Given the description of an element on the screen output the (x, y) to click on. 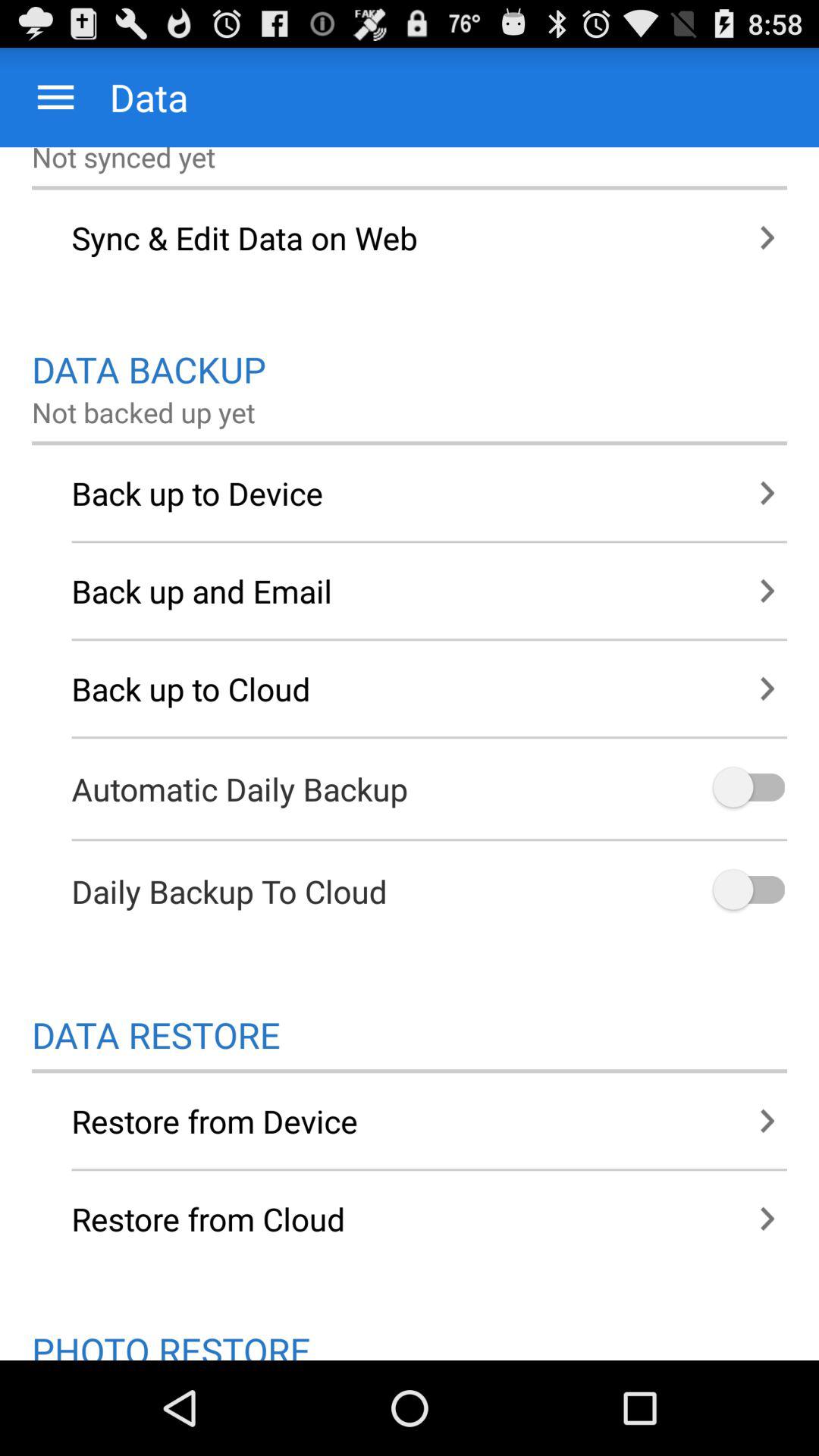
open menu (55, 97)
